Given the description of an element on the screen output the (x, y) to click on. 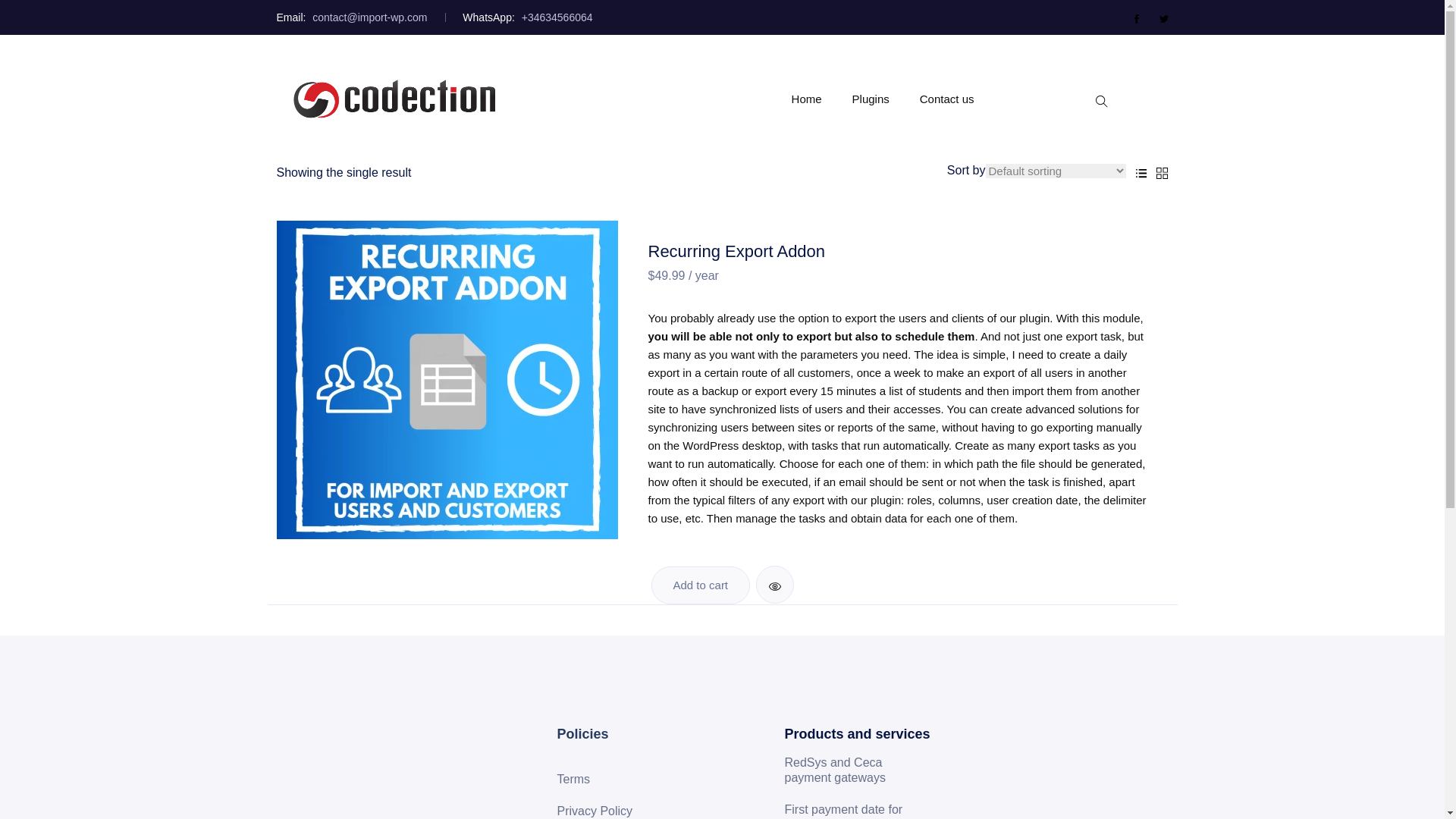
Buy now (699, 585)
RedSys and Ceca payment gateways (862, 770)
Contact us (947, 98)
Plugins (870, 98)
Add to cart (699, 585)
First payment date for WooCommerce Subscriptions Addons (862, 807)
Privacy Policy (600, 808)
Recurring Export Addon (736, 253)
Home (807, 98)
Terms (579, 779)
